Given the description of an element on the screen output the (x, y) to click on. 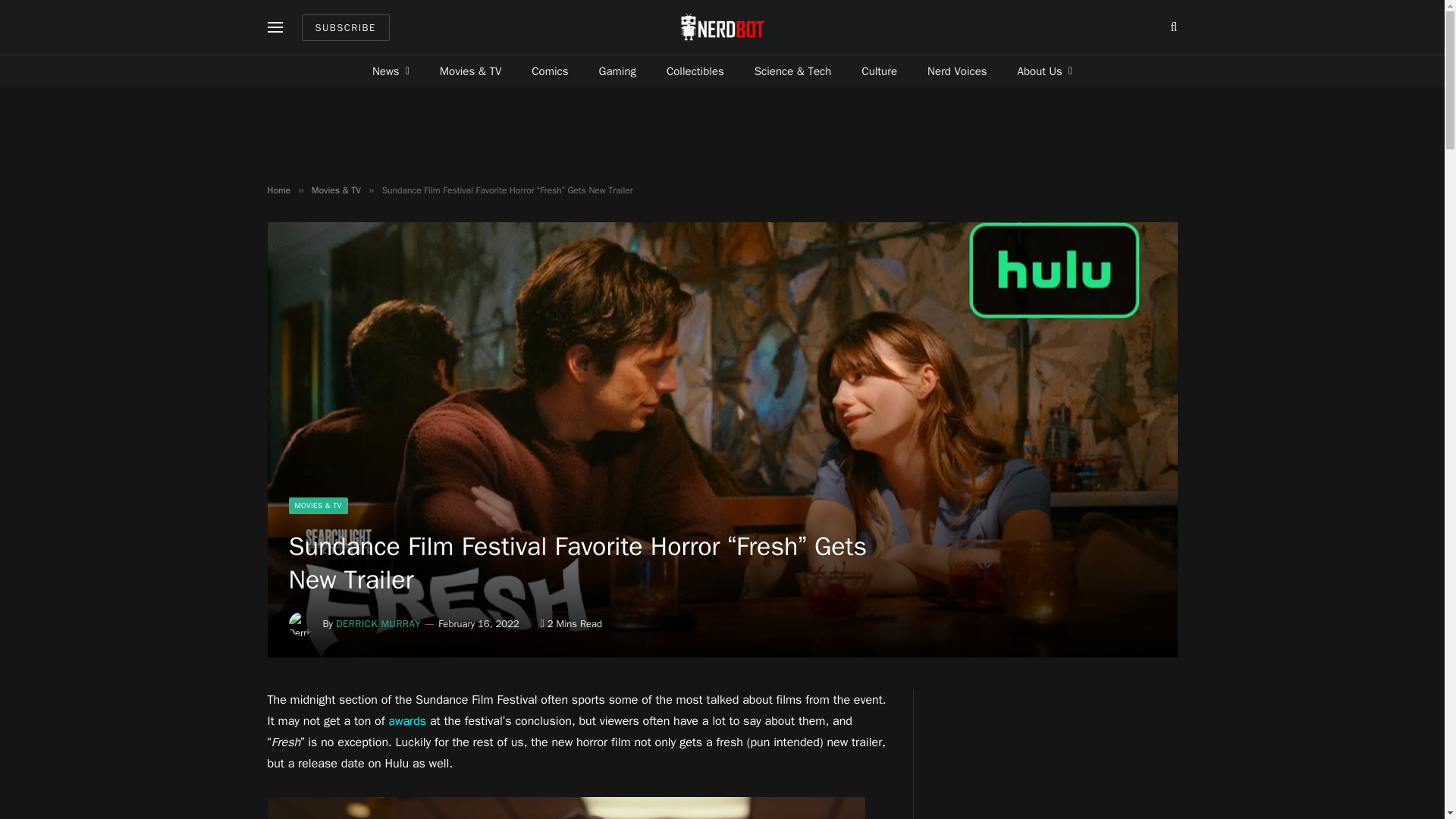
Nerd Voices (957, 70)
Culture (878, 70)
Posts by Derrick Murray (378, 623)
Gaming (616, 70)
NERDBOT (722, 26)
Collectibles (694, 70)
DERRICK MURRAY (378, 623)
About Us (1045, 70)
SUBSCRIBE (345, 26)
awards (407, 720)
